Given the description of an element on the screen output the (x, y) to click on. 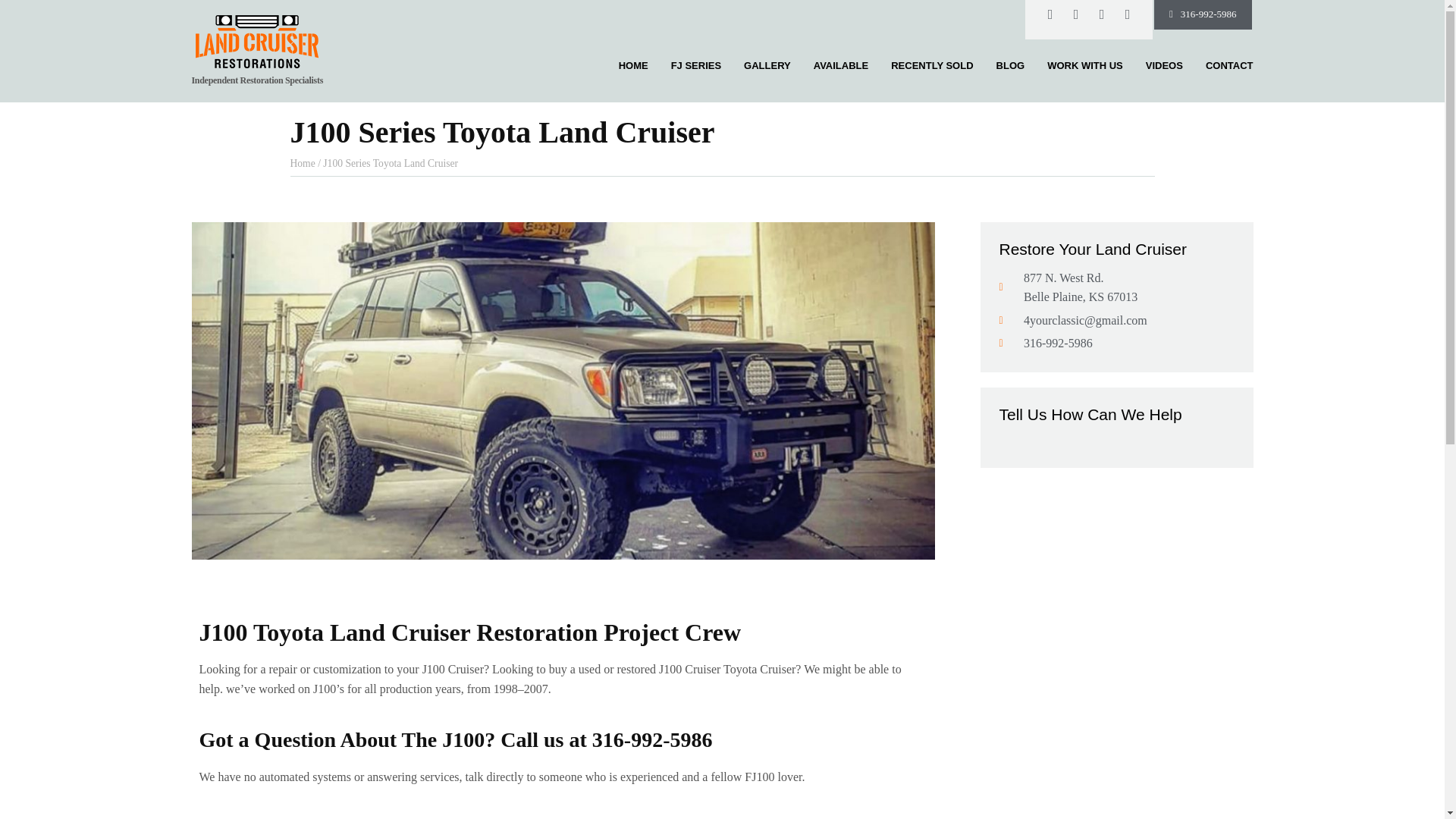
HOME (632, 65)
VIDEOS (1163, 65)
RECENTLY SOLD (931, 65)
CONTACT (1229, 65)
BLOG (1010, 65)
FJ SERIES (695, 65)
WORK WITH US (1084, 65)
AVAILABLE (840, 65)
GALLERY (767, 65)
316-992-5986 (1202, 14)
